Given the description of an element on the screen output the (x, y) to click on. 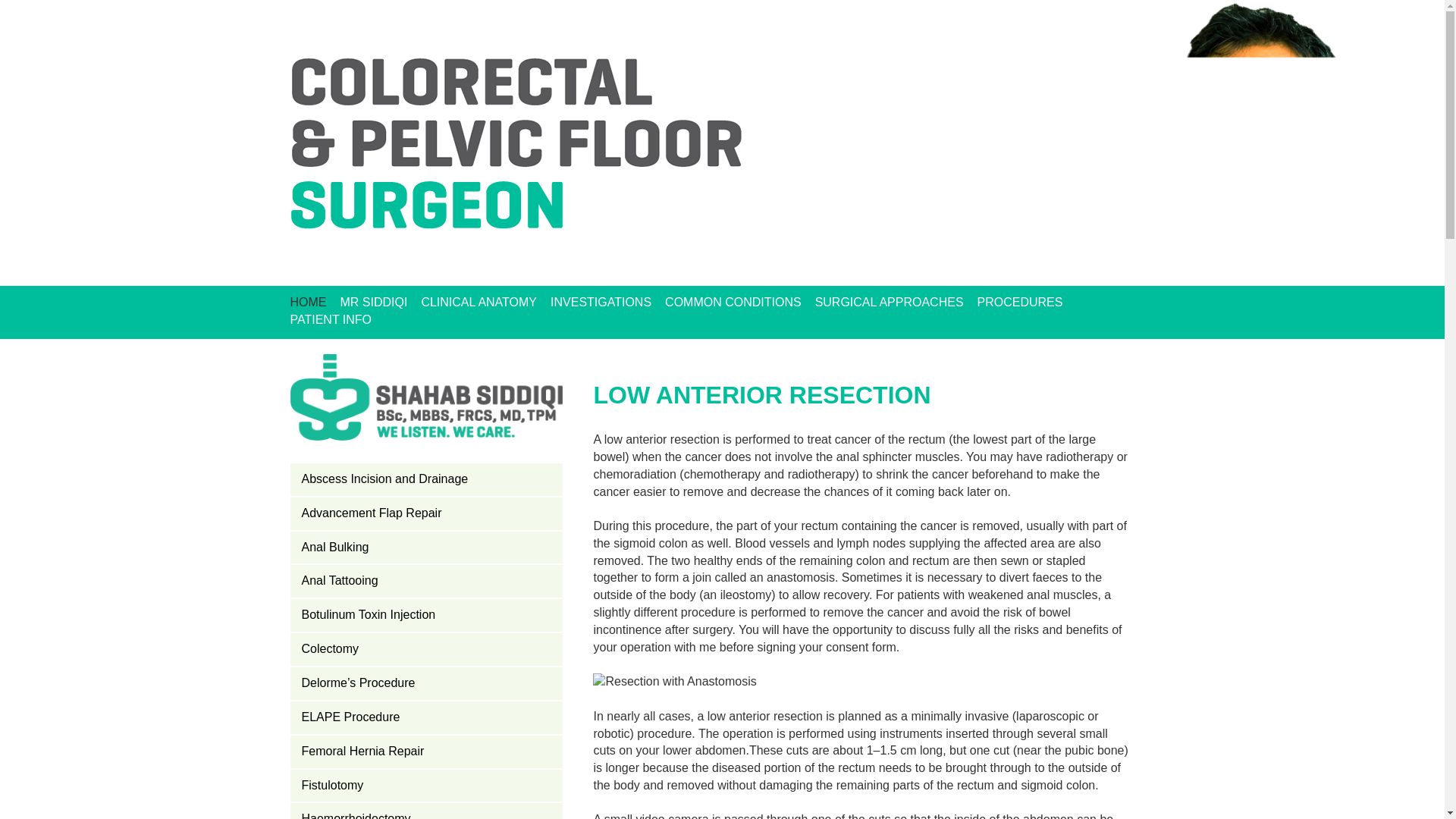
COMMON CONDITIONS (733, 303)
CLINICAL ANATOMY (478, 303)
SURGICAL APPROACHES (889, 303)
PROCEDURES (1019, 303)
INVESTIGATIONS (600, 303)
HOME (307, 303)
MR SIDDIQI (373, 303)
